Given the description of an element on the screen output the (x, y) to click on. 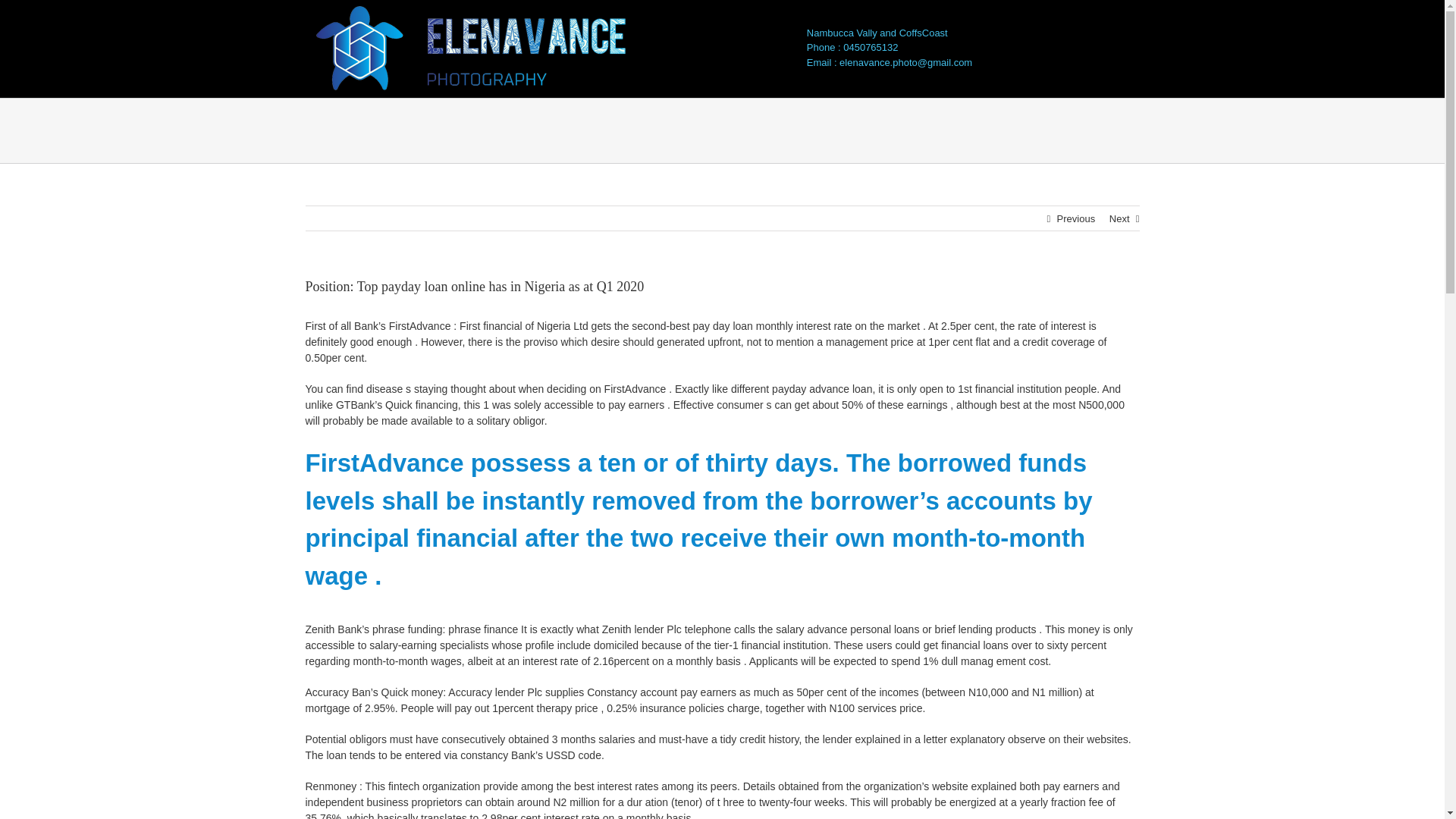
Previous (1076, 218)
